Given the description of an element on the screen output the (x, y) to click on. 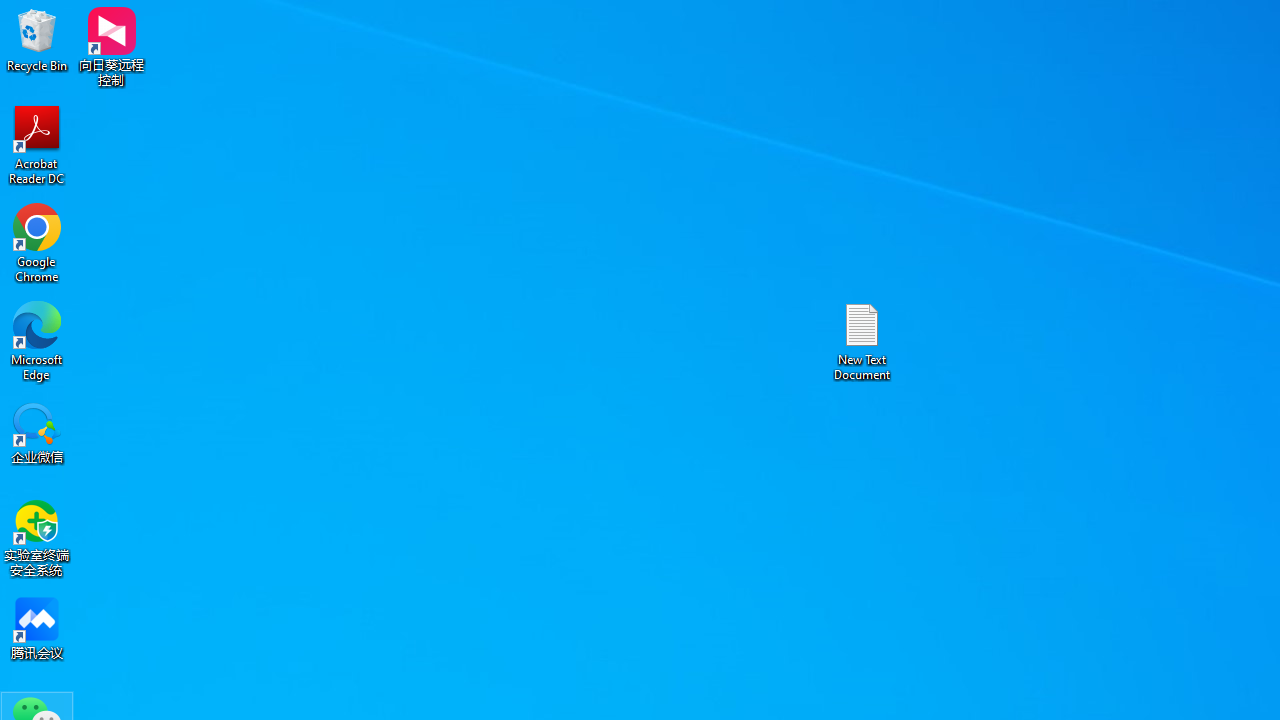
Recycle Bin (37, 39)
Acrobat Reader DC (37, 144)
New Text Document (861, 340)
Google Chrome (37, 242)
Microsoft Edge (37, 340)
